Given the description of an element on the screen output the (x, y) to click on. 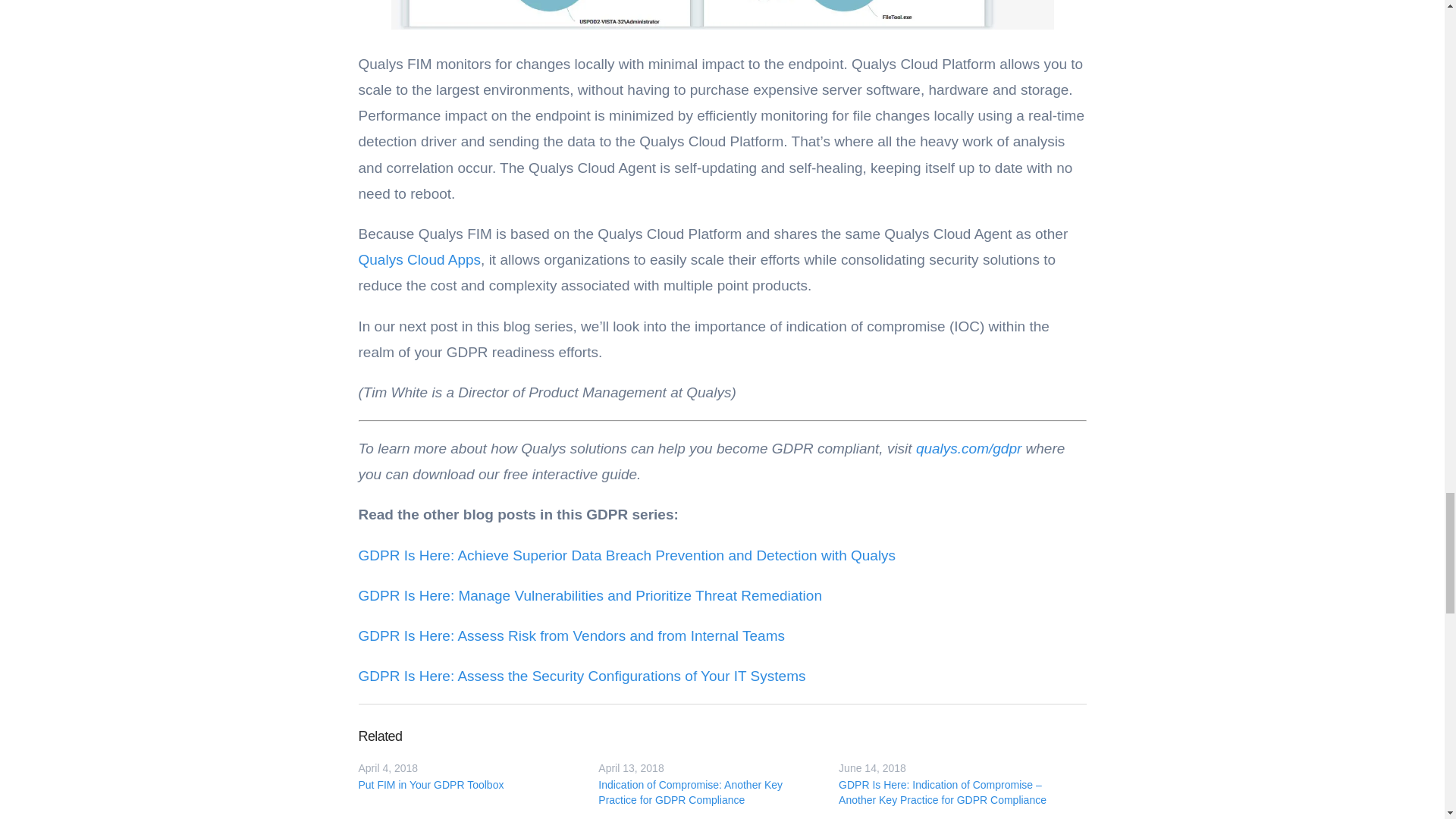
Put FIM in Your GDPR Toolbox (465, 784)
Put FIM in Your GDPR Toolbox (465, 784)
Qualys Cloud Apps (419, 259)
